Given the description of an element on the screen output the (x, y) to click on. 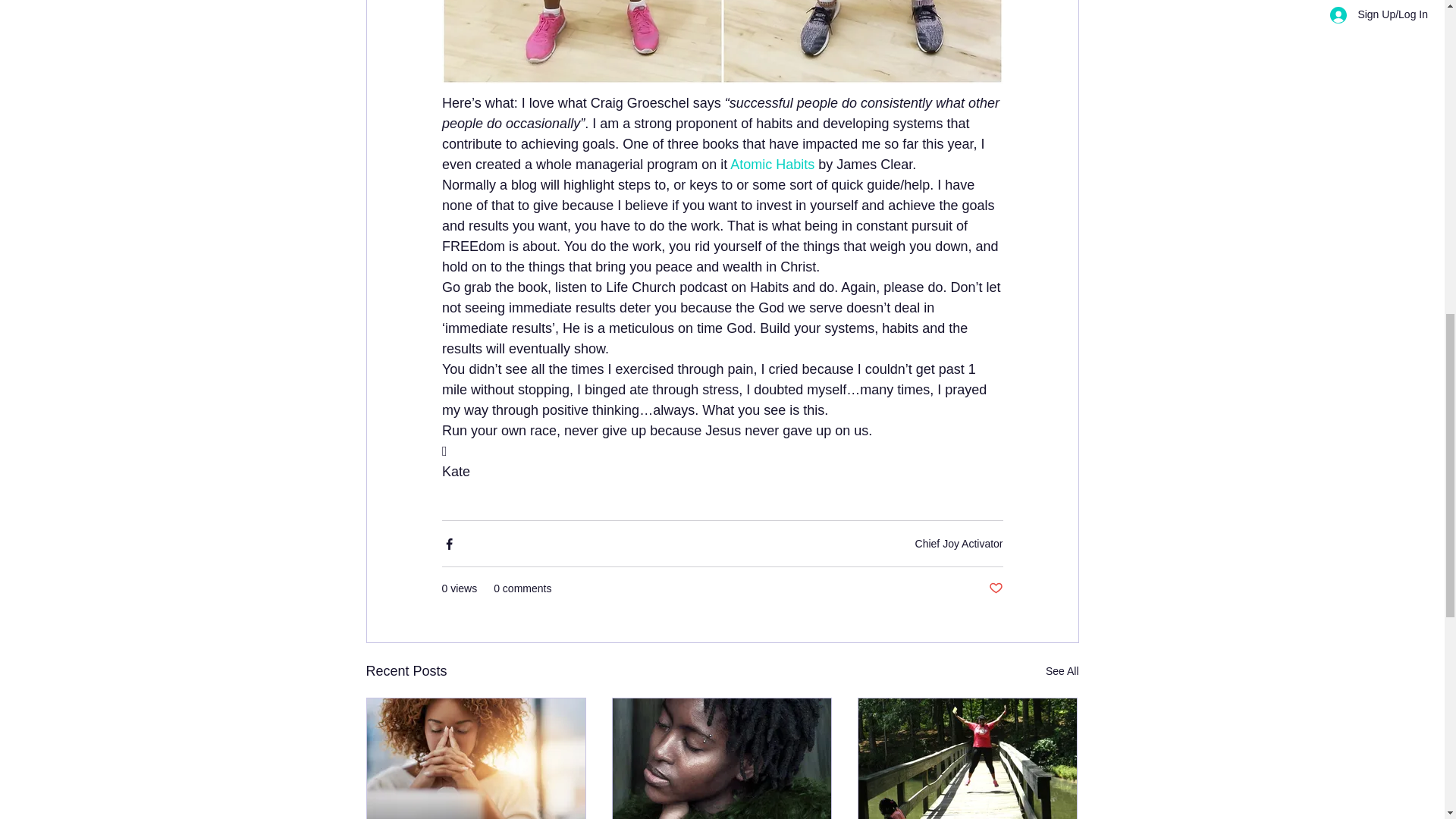
Chief Joy Activator (959, 542)
See All (1061, 671)
Post not marked as liked (995, 588)
Atomic Habits (771, 164)
